Given the description of an element on the screen output the (x, y) to click on. 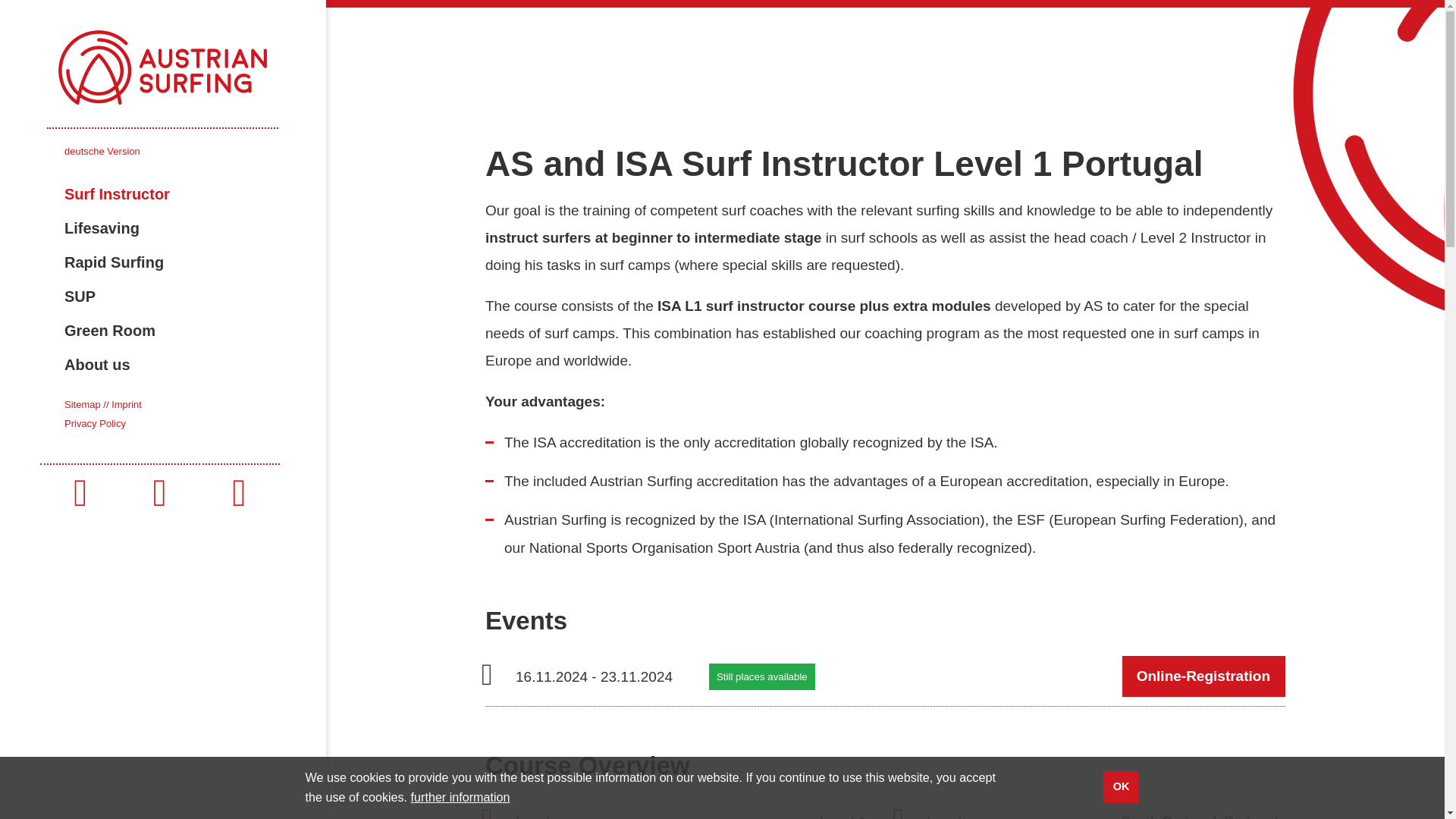
Lifesaving (195, 228)
deutsche Version (101, 151)
Rapid Surfing (195, 262)
Surf Instructor (195, 194)
